Given the description of an element on the screen output the (x, y) to click on. 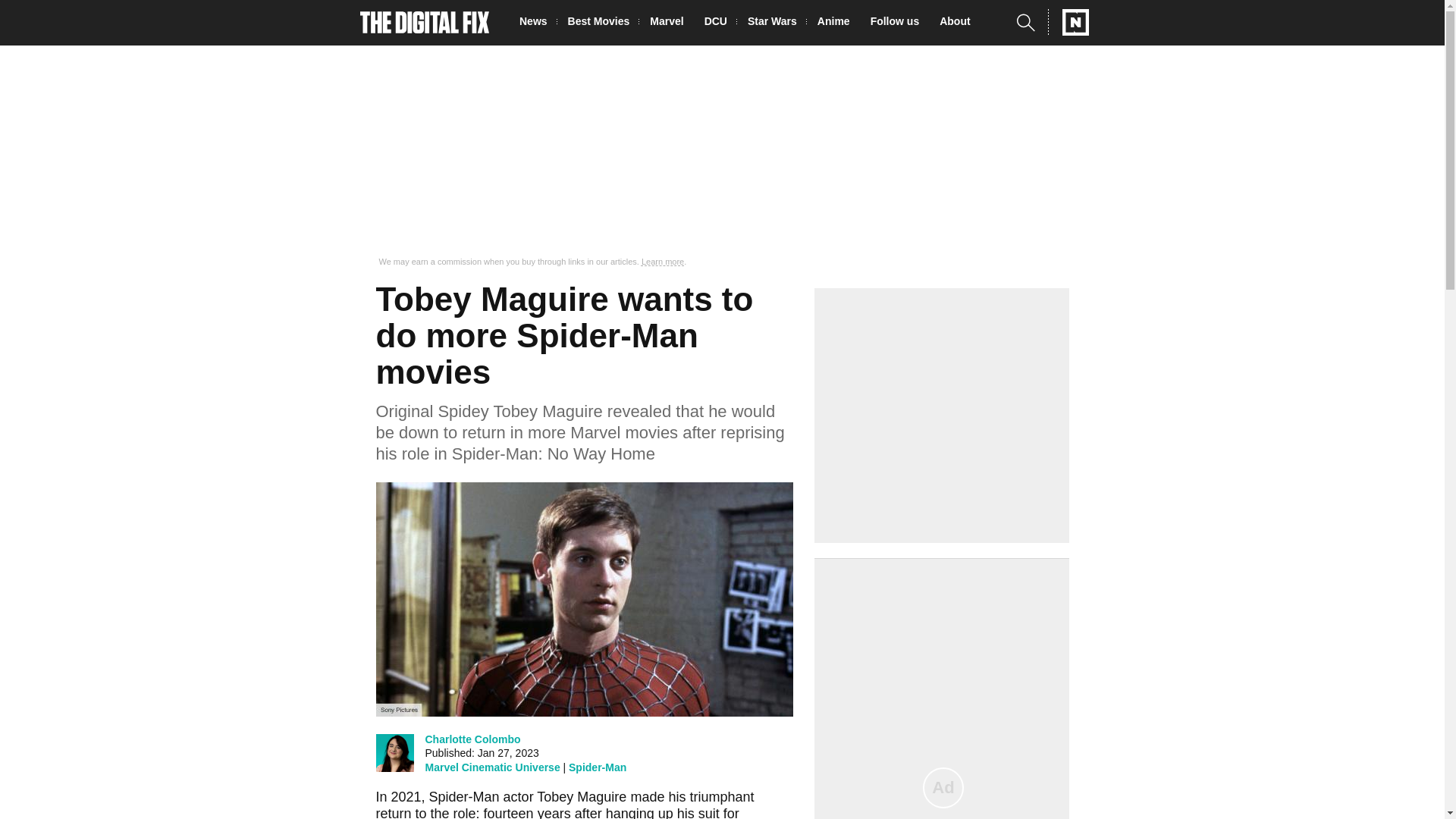
Learn more (663, 261)
Star Wars (777, 22)
Tobey Maguire (581, 796)
The Digital Fix (424, 22)
Spider-Man actor (481, 796)
Anime News (837, 22)
Marvel Cinematic Universe News (671, 22)
Spider-Man (597, 767)
Marvel Cinematic Universe (492, 767)
Network N Media (1068, 22)
